Given the description of an element on the screen output the (x, y) to click on. 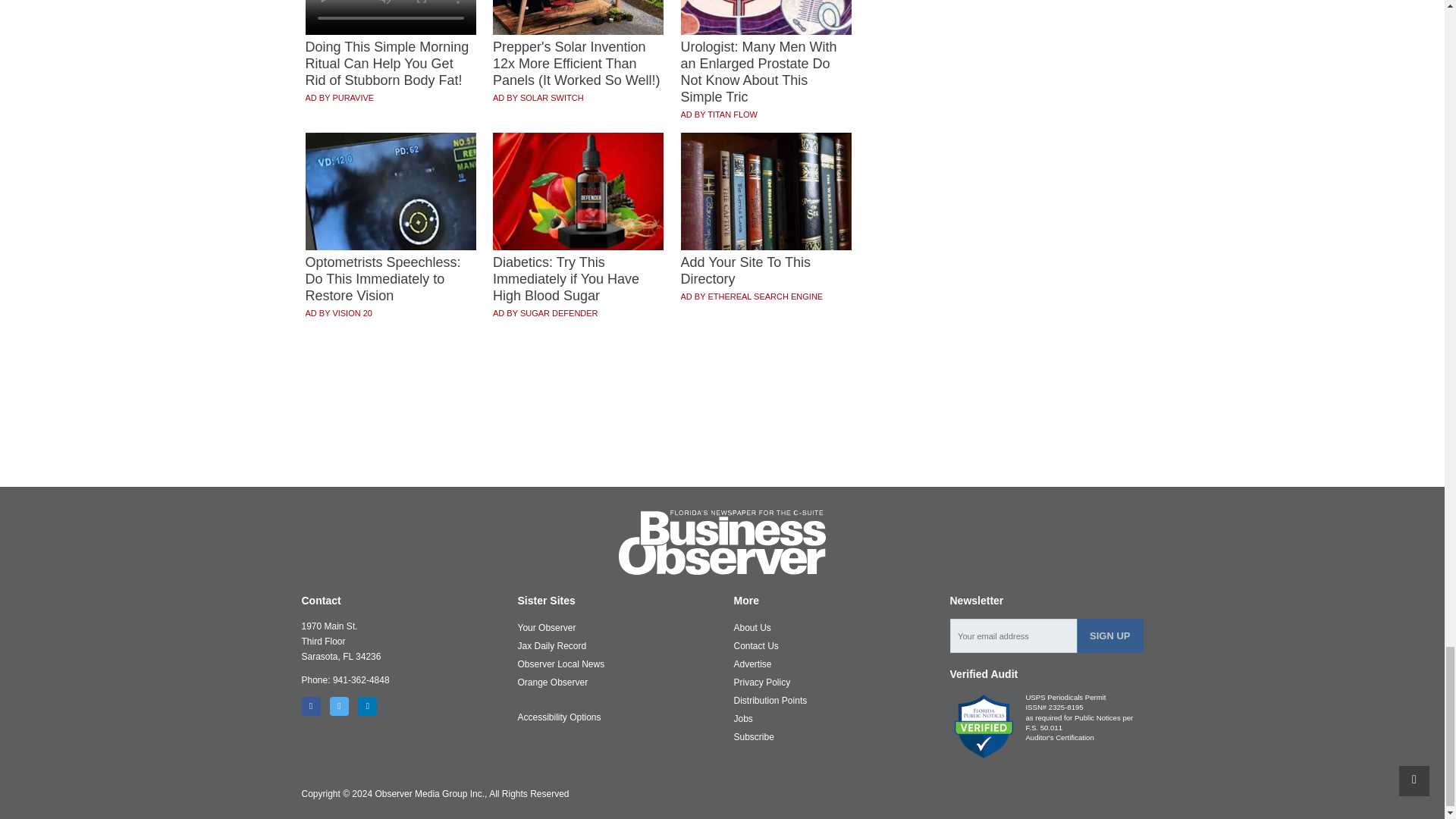
3rd party ad content (722, 431)
